Given the description of an element on the screen output the (x, y) to click on. 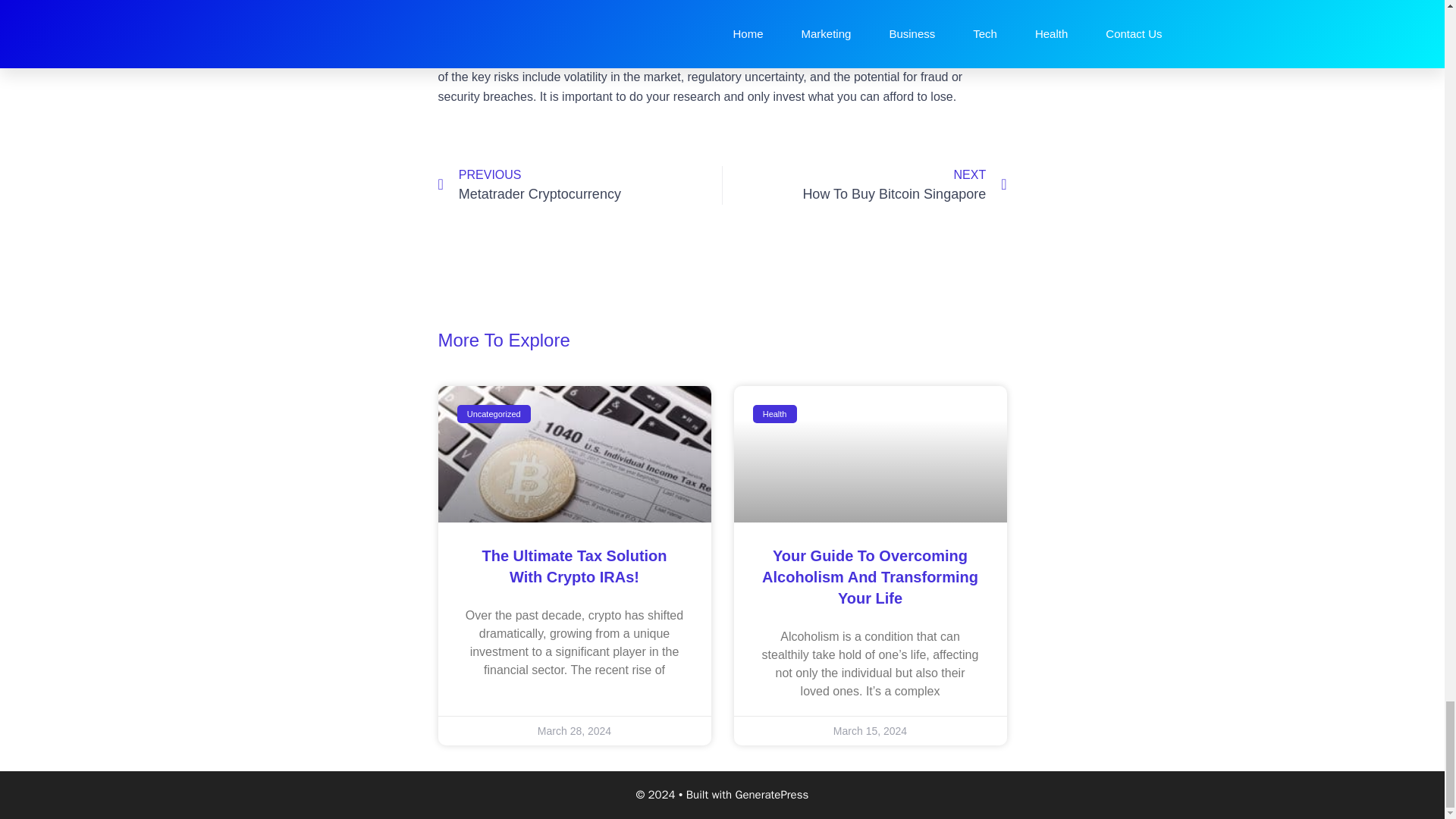
The Ultimate Tax Solution With Crypto IRAs! (573, 566)
GeneratePress (864, 185)
